Given the description of an element on the screen output the (x, y) to click on. 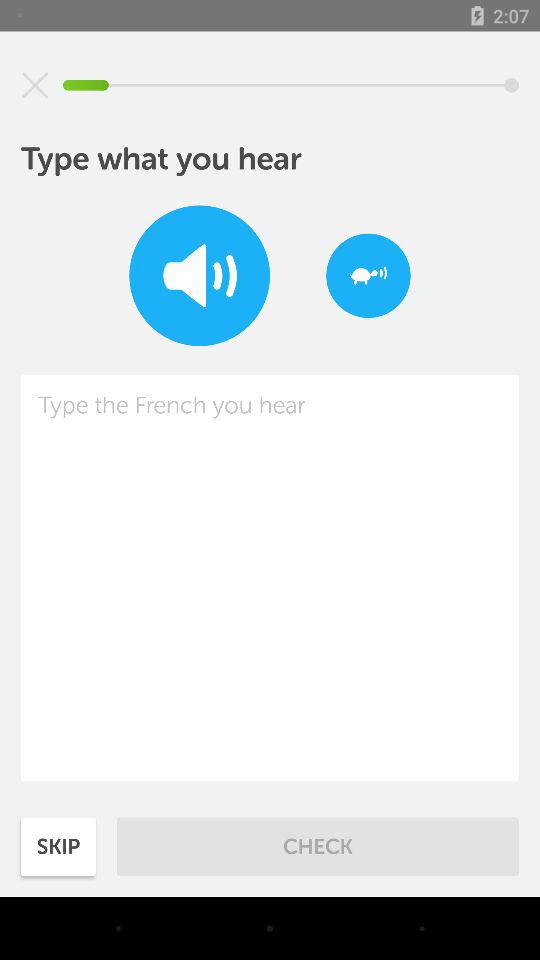
scroll until the check icon (318, 846)
